Given the description of an element on the screen output the (x, y) to click on. 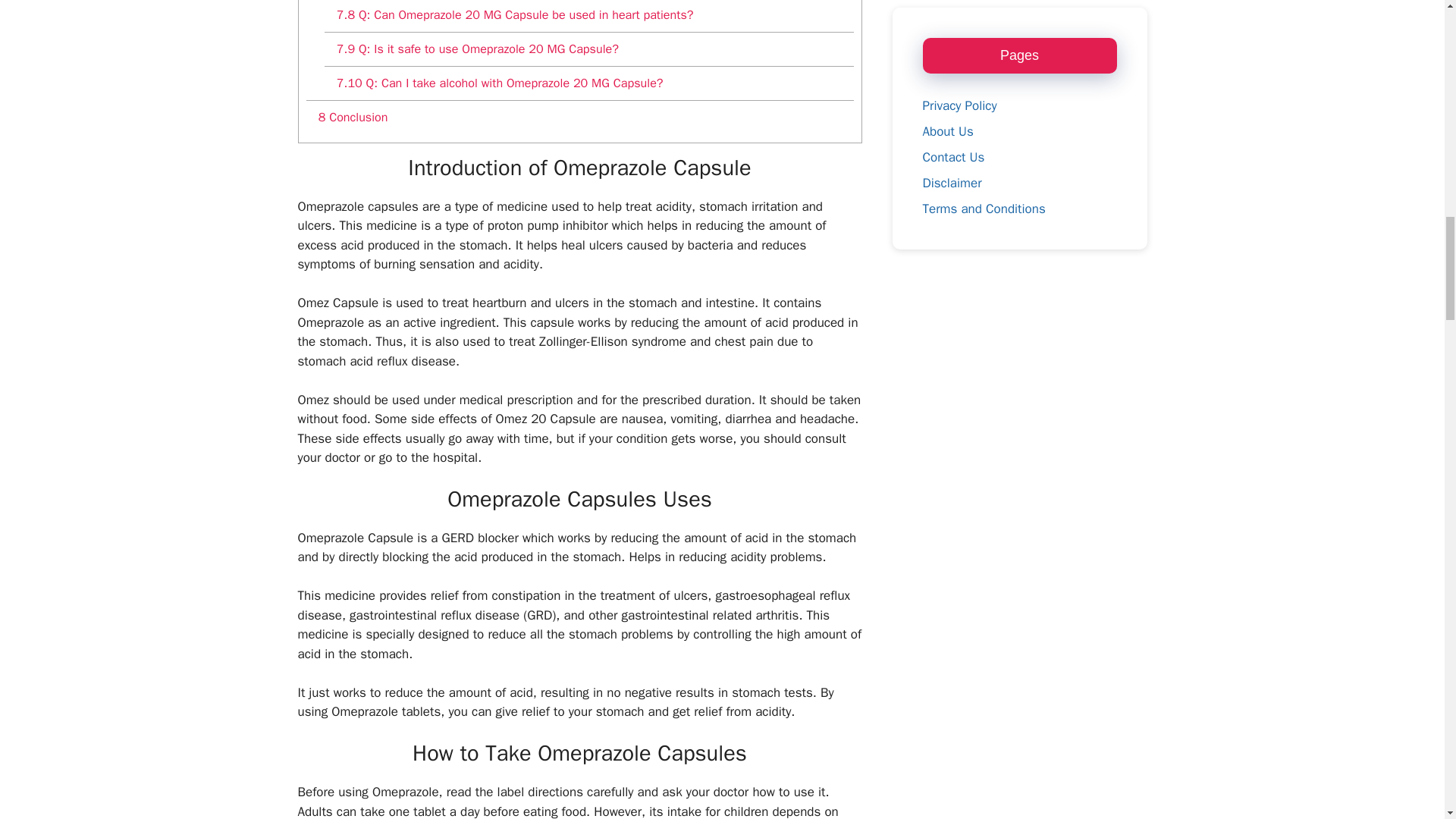
7.9 Q: Is it safe to use Omeprazole 20 MG Capsule? (588, 48)
8 Conclusion (579, 116)
7.10 Q: Can I take alcohol with Omeprazole 20 MG Capsule? (588, 82)
